Given the description of an element on the screen output the (x, y) to click on. 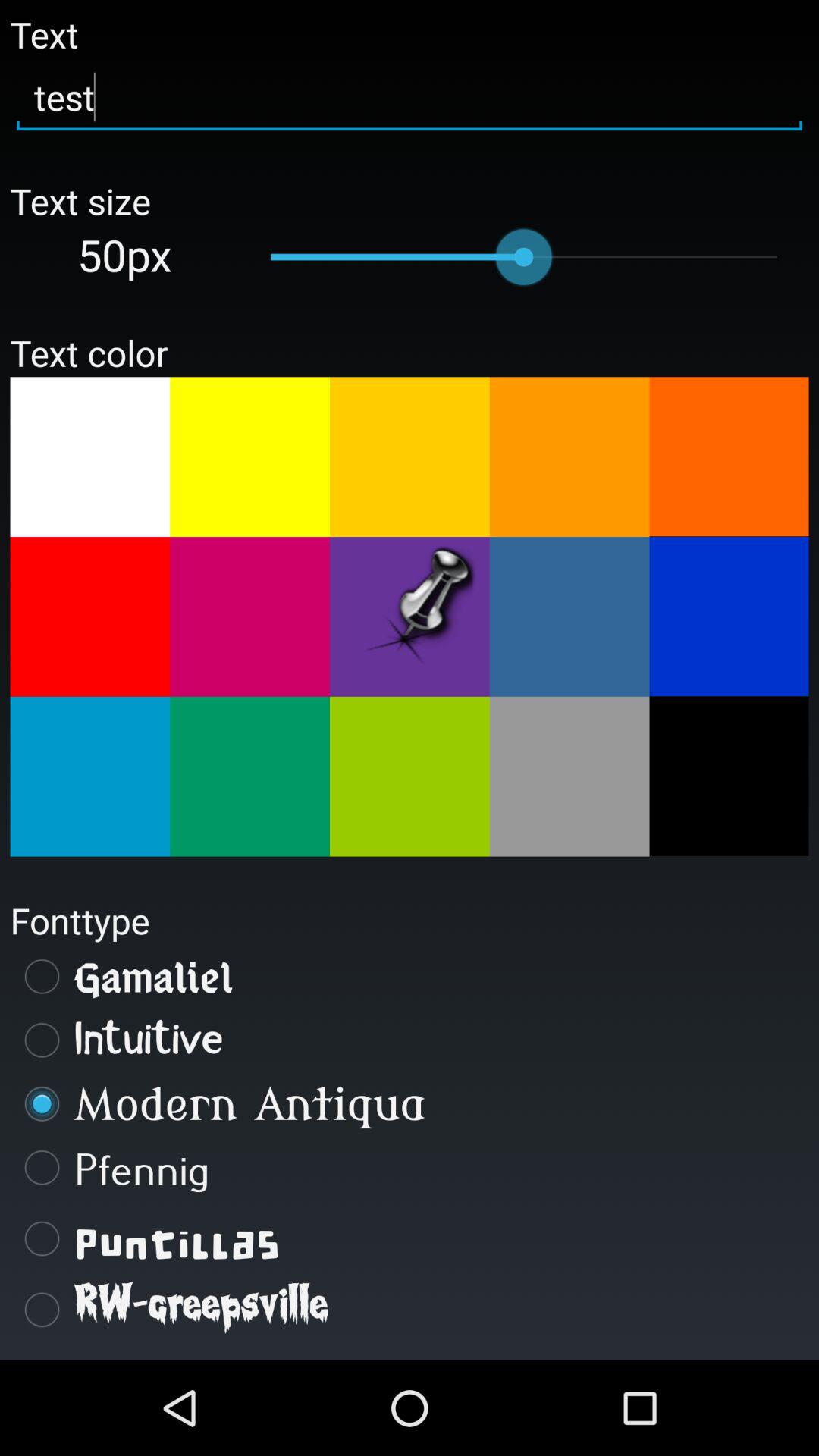
change text color to green (409, 776)
